Given the description of an element on the screen output the (x, y) to click on. 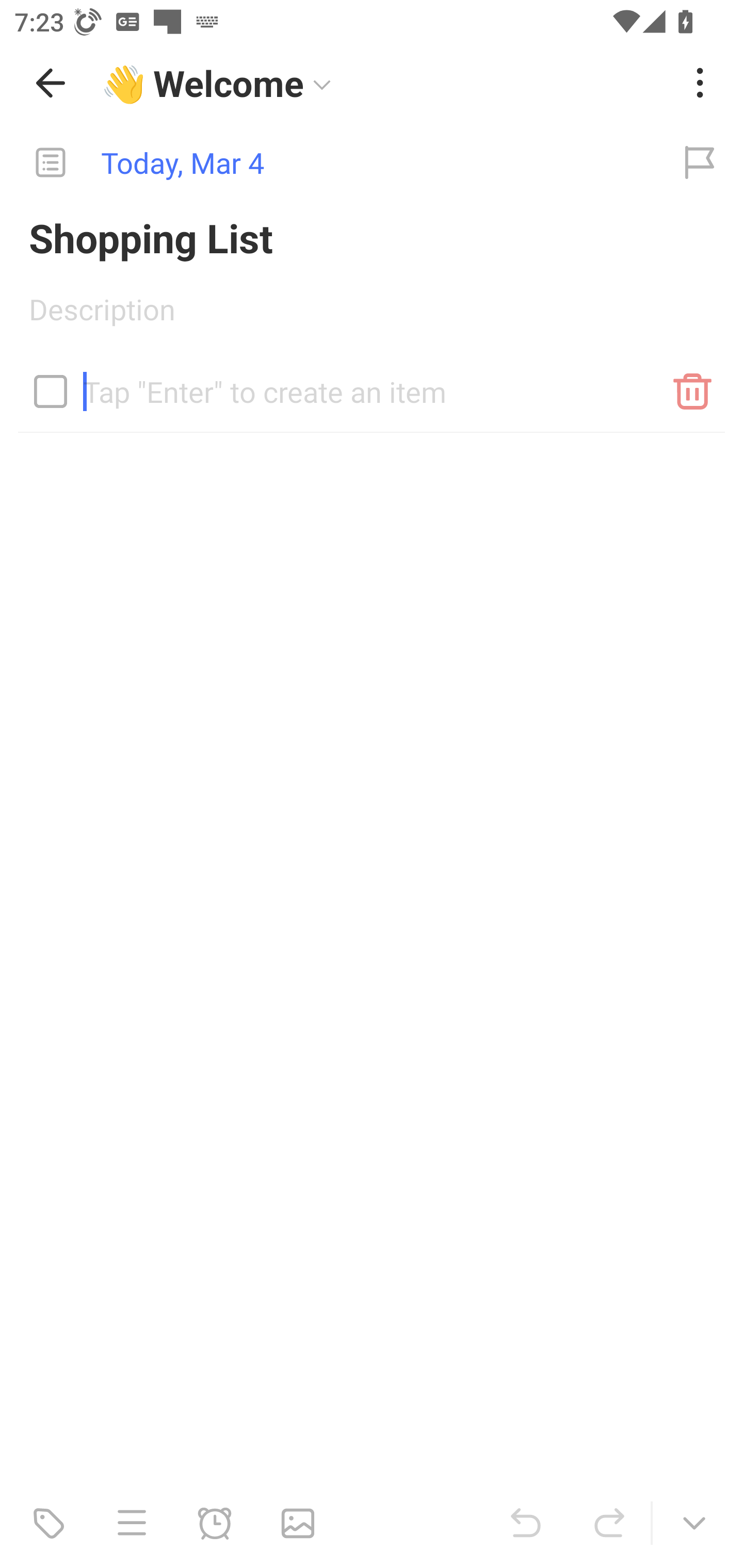
👋 Welcome (384, 82)
Today, Mar 4  (328, 163)
Shopping List (371, 237)
Description (371, 315)
  (50, 390)
Tap "Enter" to create an item (371, 383)
